Given the description of an element on the screen output the (x, y) to click on. 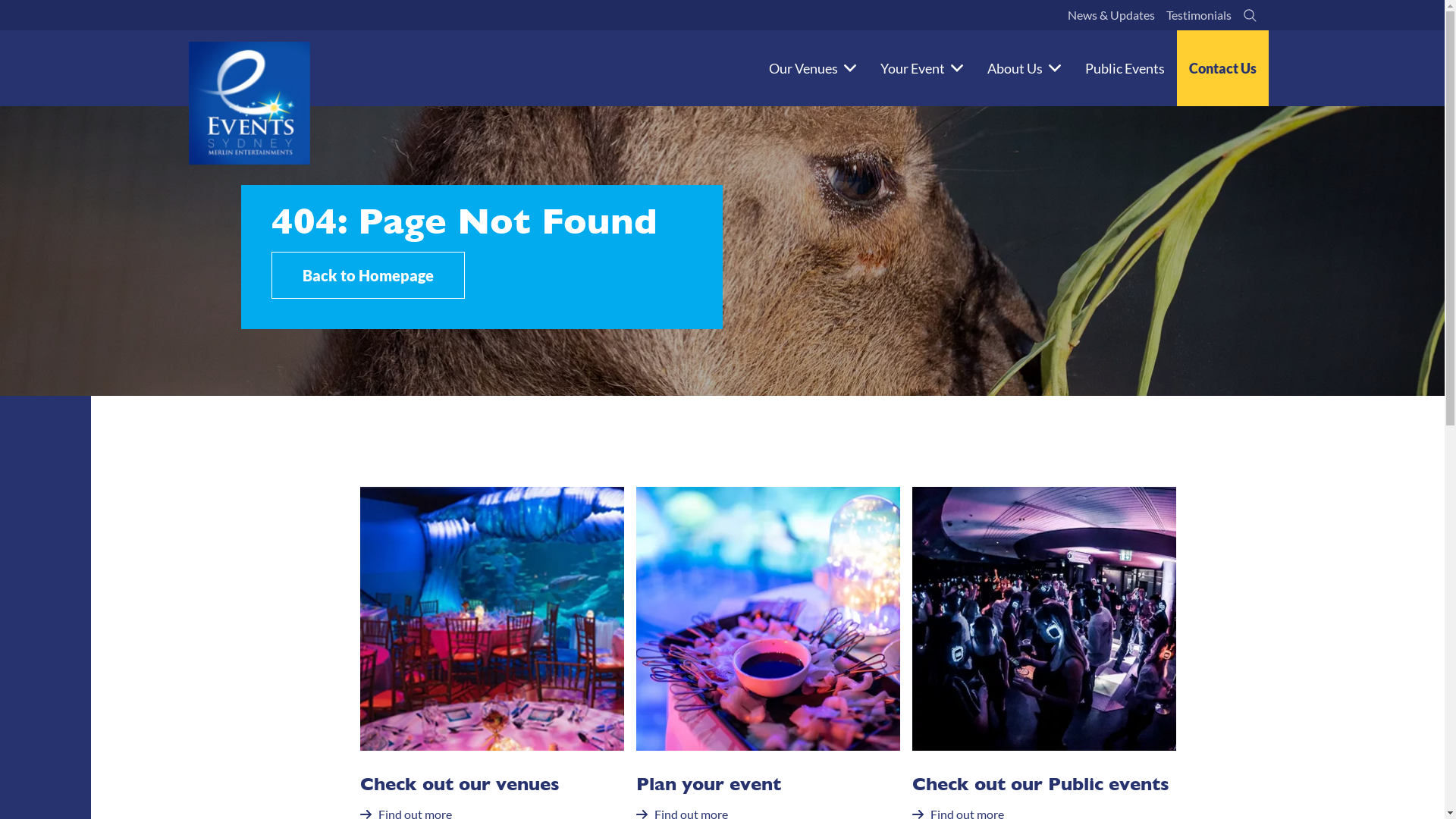
Public Events Element type: text (1124, 68)
Testimonials Element type: text (1197, 15)
Your Event Element type: text (920, 68)
News & Updates Element type: text (1110, 15)
Our Venues Element type: text (812, 68)
Back to Homepage Element type: text (367, 274)
About Us Element type: text (1024, 68)
Contact Us Element type: text (1222, 68)
Search Element type: text (1249, 14)
